Given the description of an element on the screen output the (x, y) to click on. 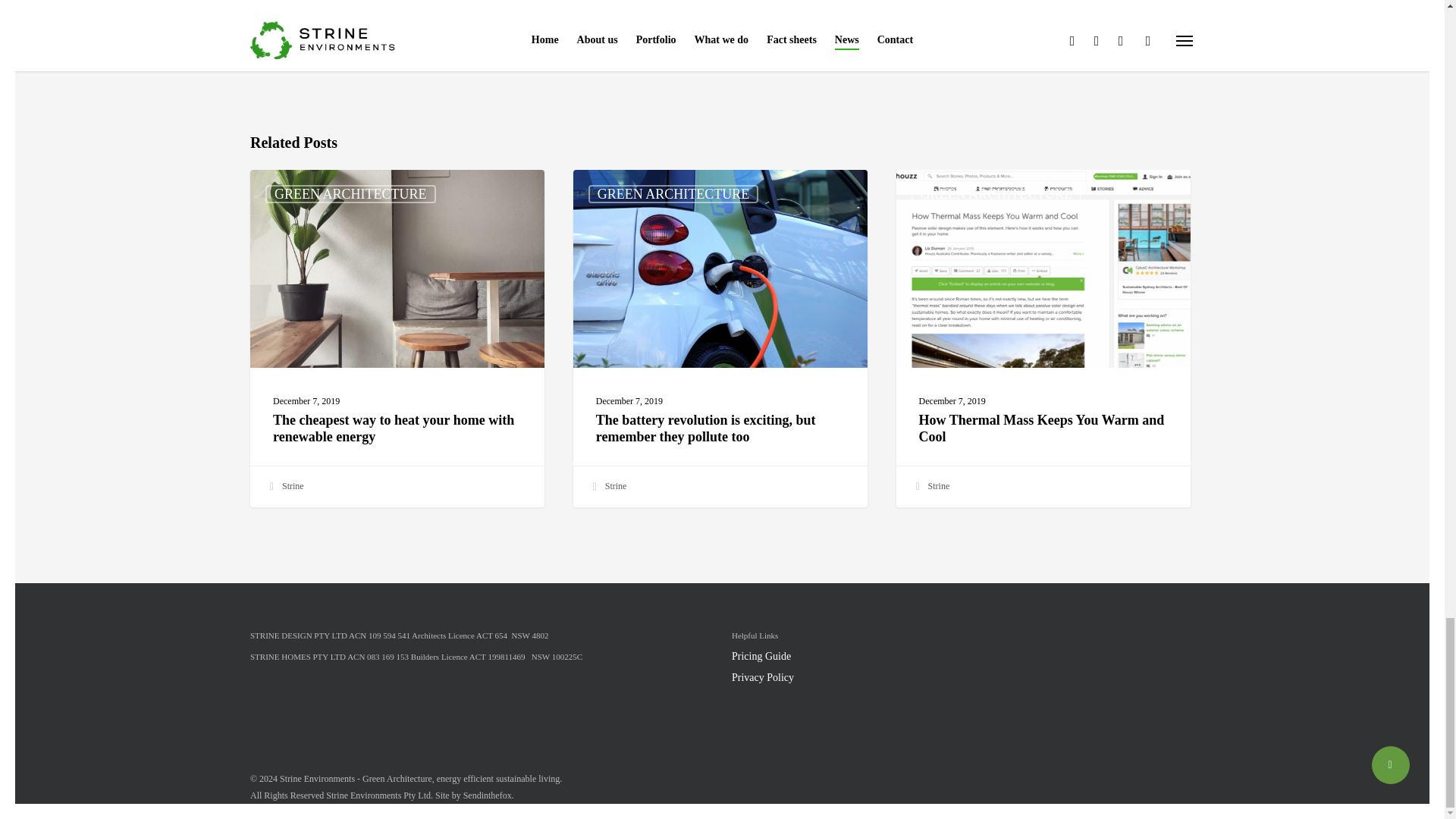
GREEN ARCHITECTURE (349, 194)
